Given the description of an element on the screen output the (x, y) to click on. 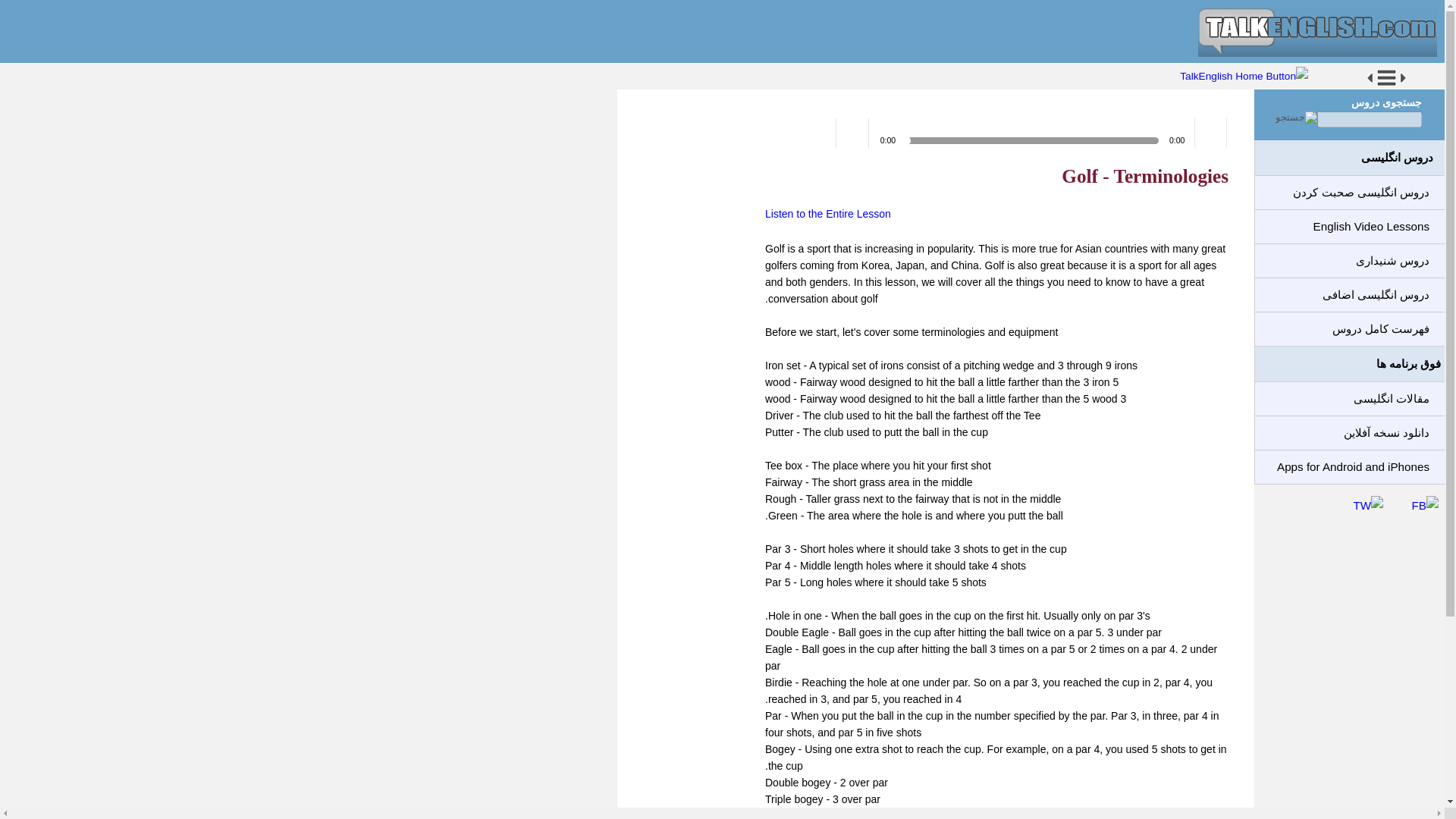
Previous (820, 132)
Next (789, 132)
